Given the description of an element on the screen output the (x, y) to click on. 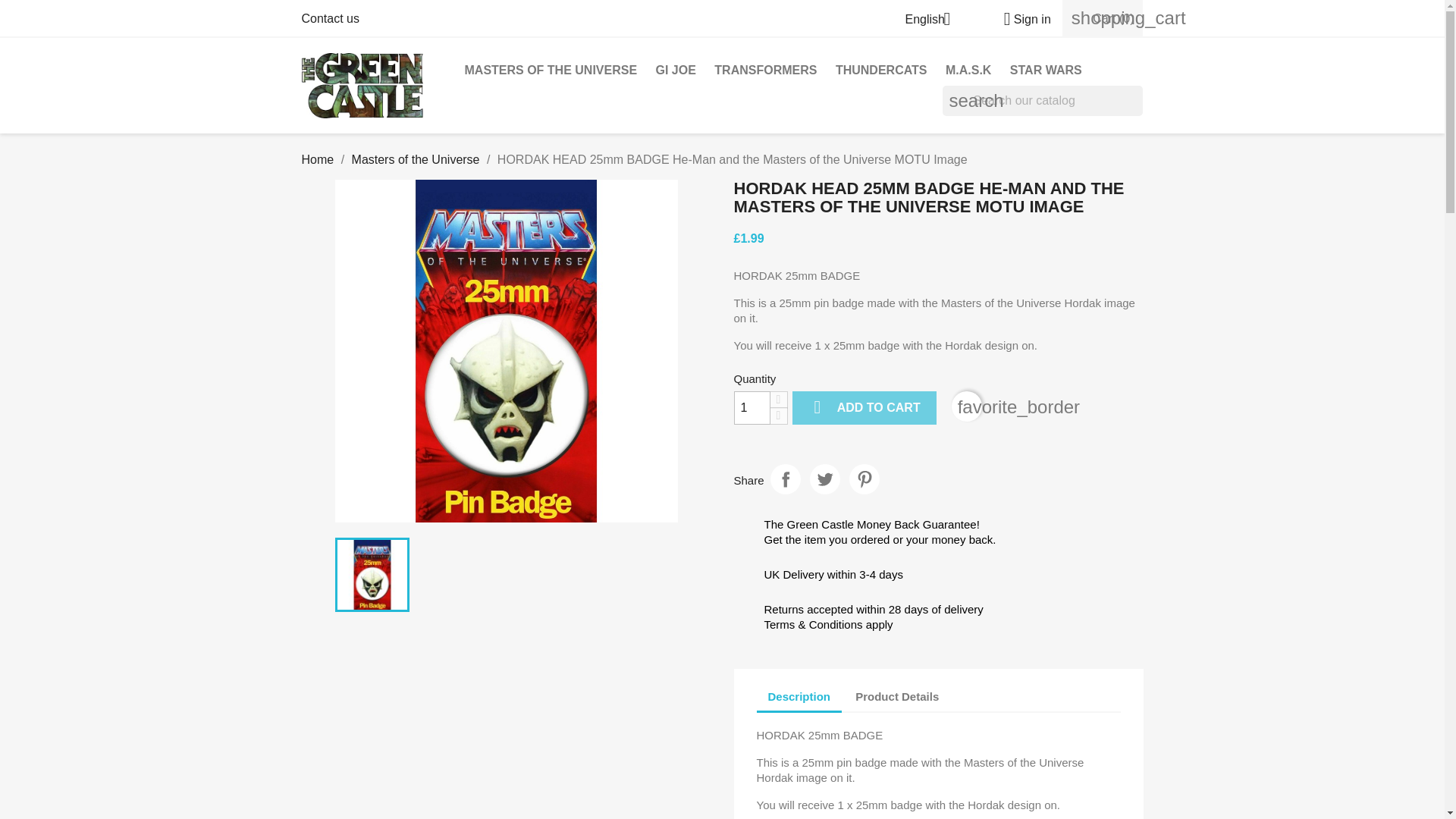
Log in to your customer account (1020, 19)
Pinterest (863, 479)
Description (800, 697)
Product Details (897, 696)
Tweet (824, 479)
Share (785, 479)
THUNDERCATS (881, 70)
Home (317, 159)
GI JOE (675, 70)
1 (751, 408)
